Given the description of an element on the screen output the (x, y) to click on. 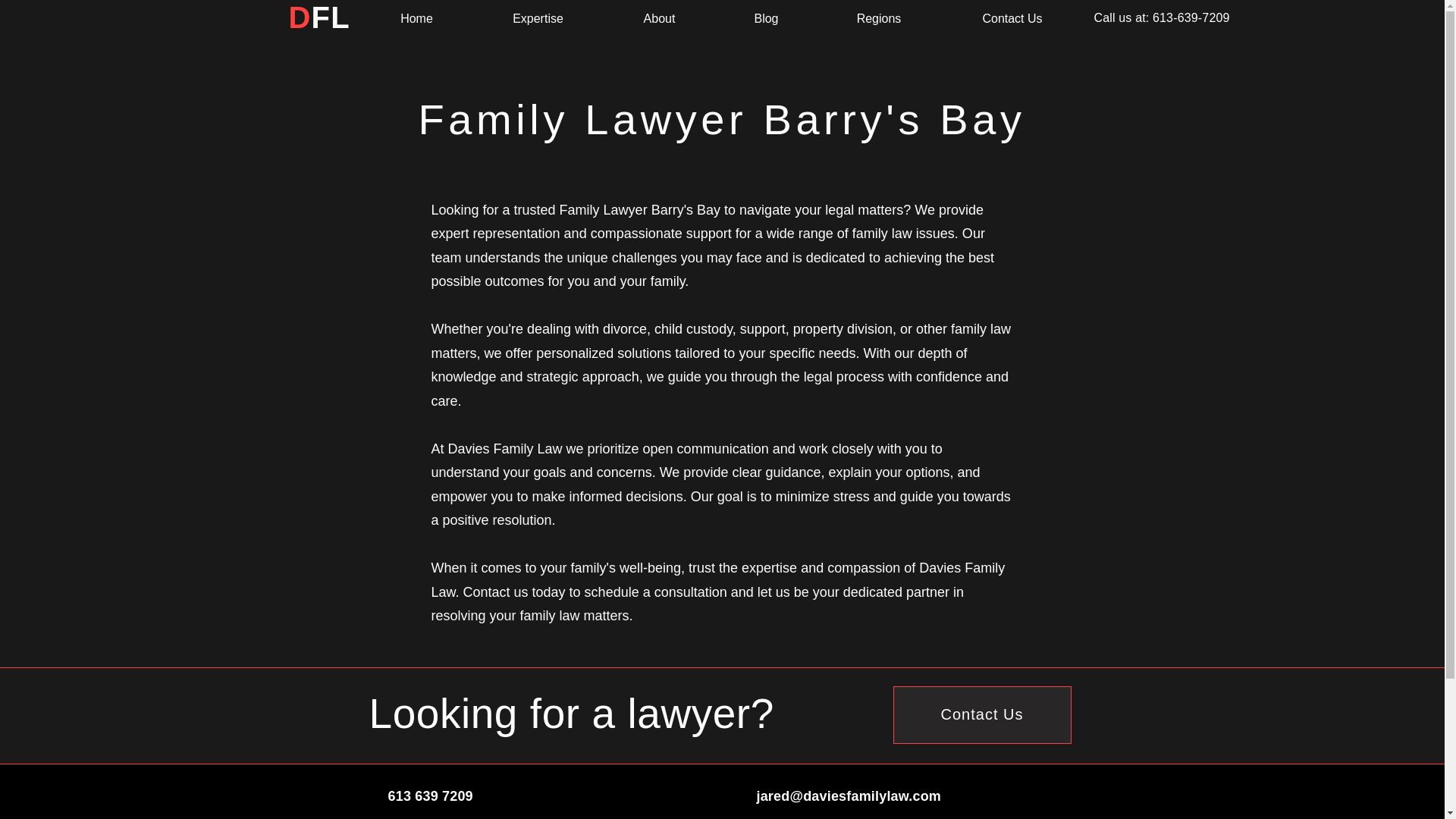
Home (417, 18)
Contact Us (1011, 18)
Expertise (538, 18)
Contact Us (982, 714)
Call us at: 613-639-7209 (1160, 17)
Blog (766, 18)
613 639 7209 (430, 795)
Regions (878, 18)
About (660, 18)
